Given the description of an element on the screen output the (x, y) to click on. 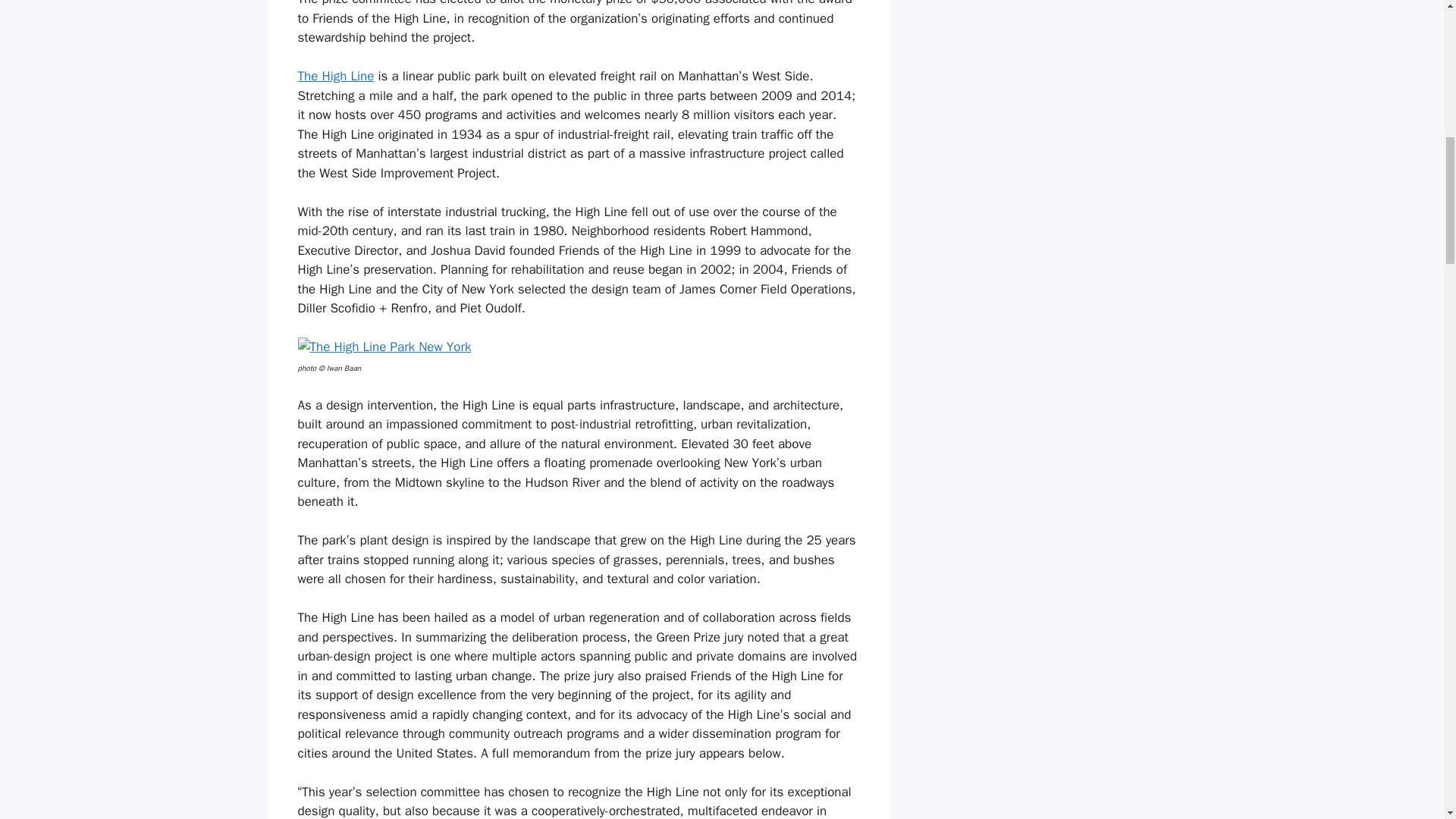
The High Line (335, 75)
Scroll back to top (1406, 720)
